Given the description of an element on the screen output the (x, y) to click on. 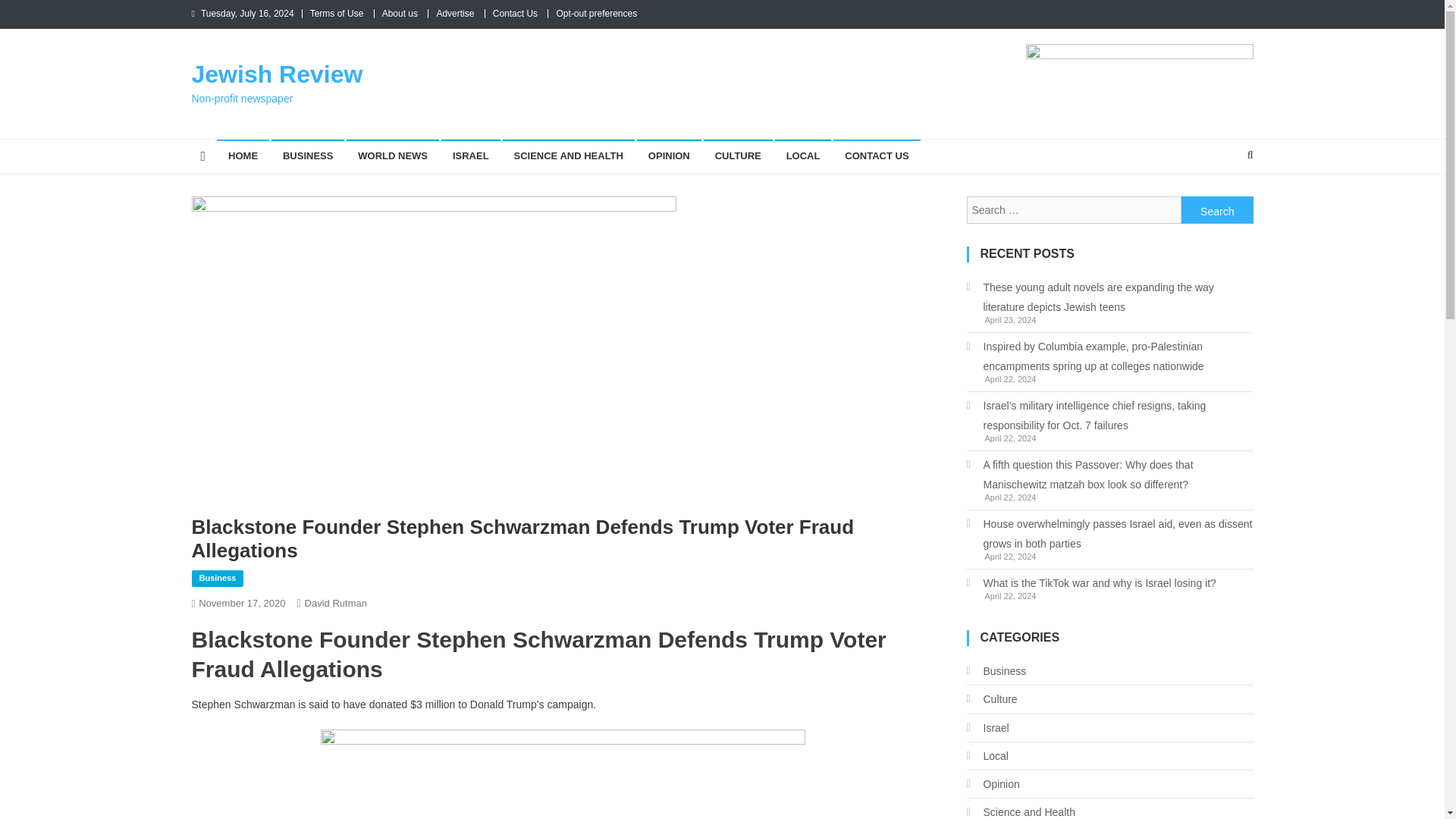
Terms of Use (337, 13)
CULTURE (738, 155)
Advertise (454, 13)
Contact Us (515, 13)
Search (1221, 205)
Opt-out preferences (596, 13)
SCIENCE AND HEALTH (567, 155)
HOME (242, 155)
November 17, 2020 (241, 603)
Search (1216, 209)
WORLD NEWS (392, 155)
ISRAEL (470, 155)
OPINION (669, 155)
LOCAL (802, 155)
Jewish Review (276, 73)
